Given the description of an element on the screen output the (x, y) to click on. 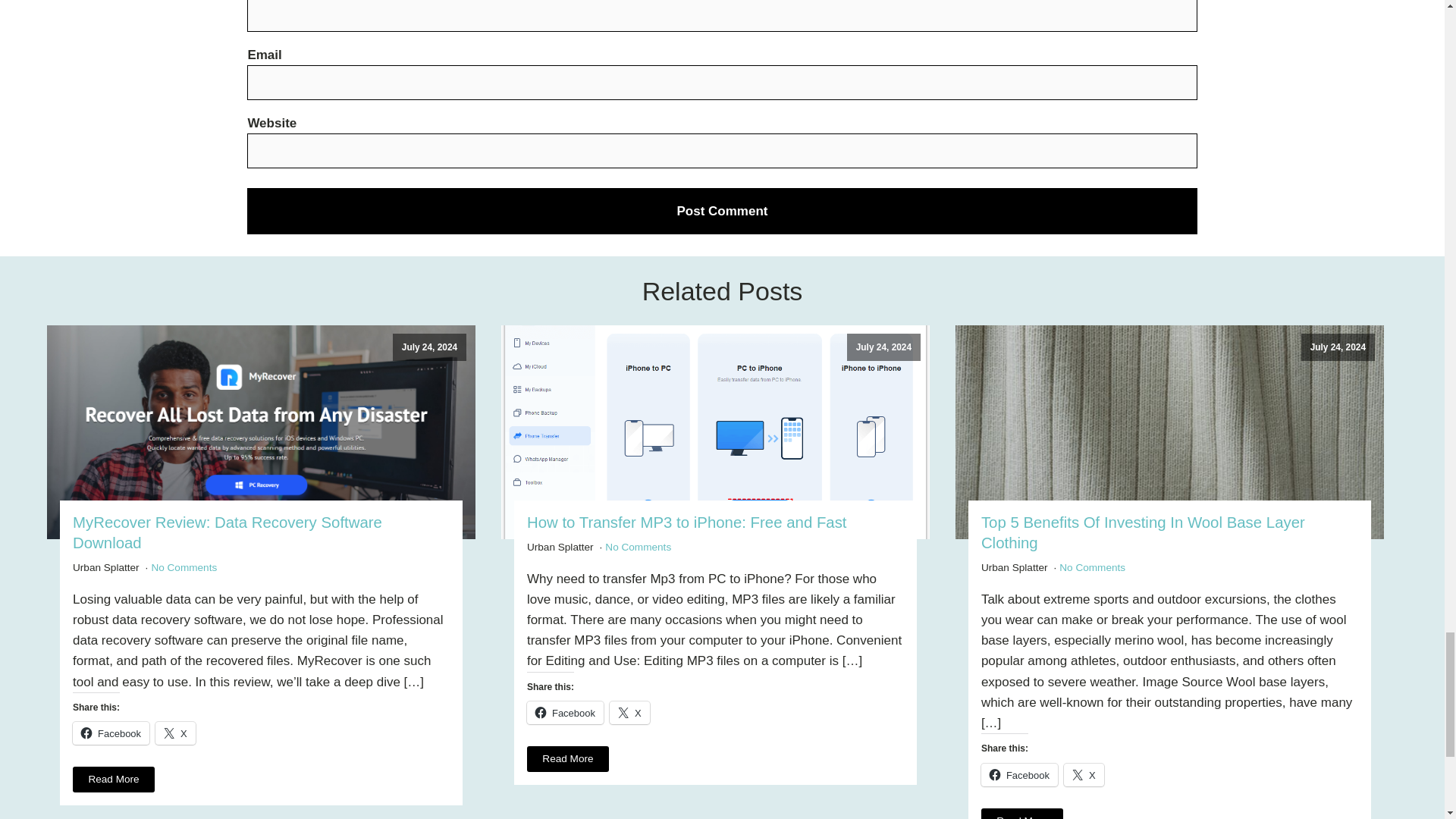
Click to share on X (1083, 774)
Click to share on Facebook (565, 712)
Click to share on X (629, 712)
Click to share on Facebook (110, 732)
Post Comment (721, 211)
Click to share on X (175, 732)
Click to share on Facebook (1019, 774)
